Given the description of an element on the screen output the (x, y) to click on. 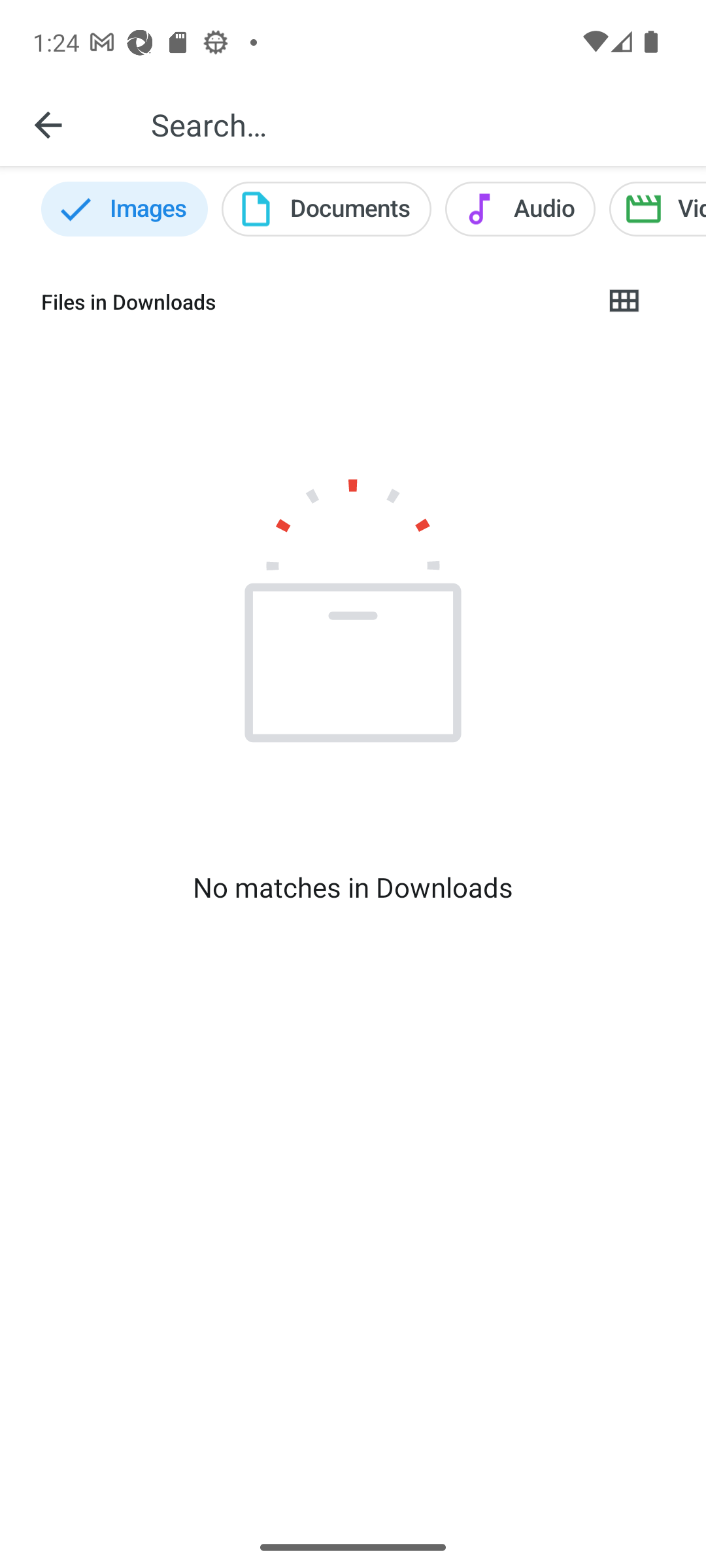
Back (48, 124)
Search… (414, 124)
Images (123, 208)
Documents (326, 208)
Audio (520, 208)
Videos (657, 208)
Grid view (623, 301)
